Given the description of an element on the screen output the (x, y) to click on. 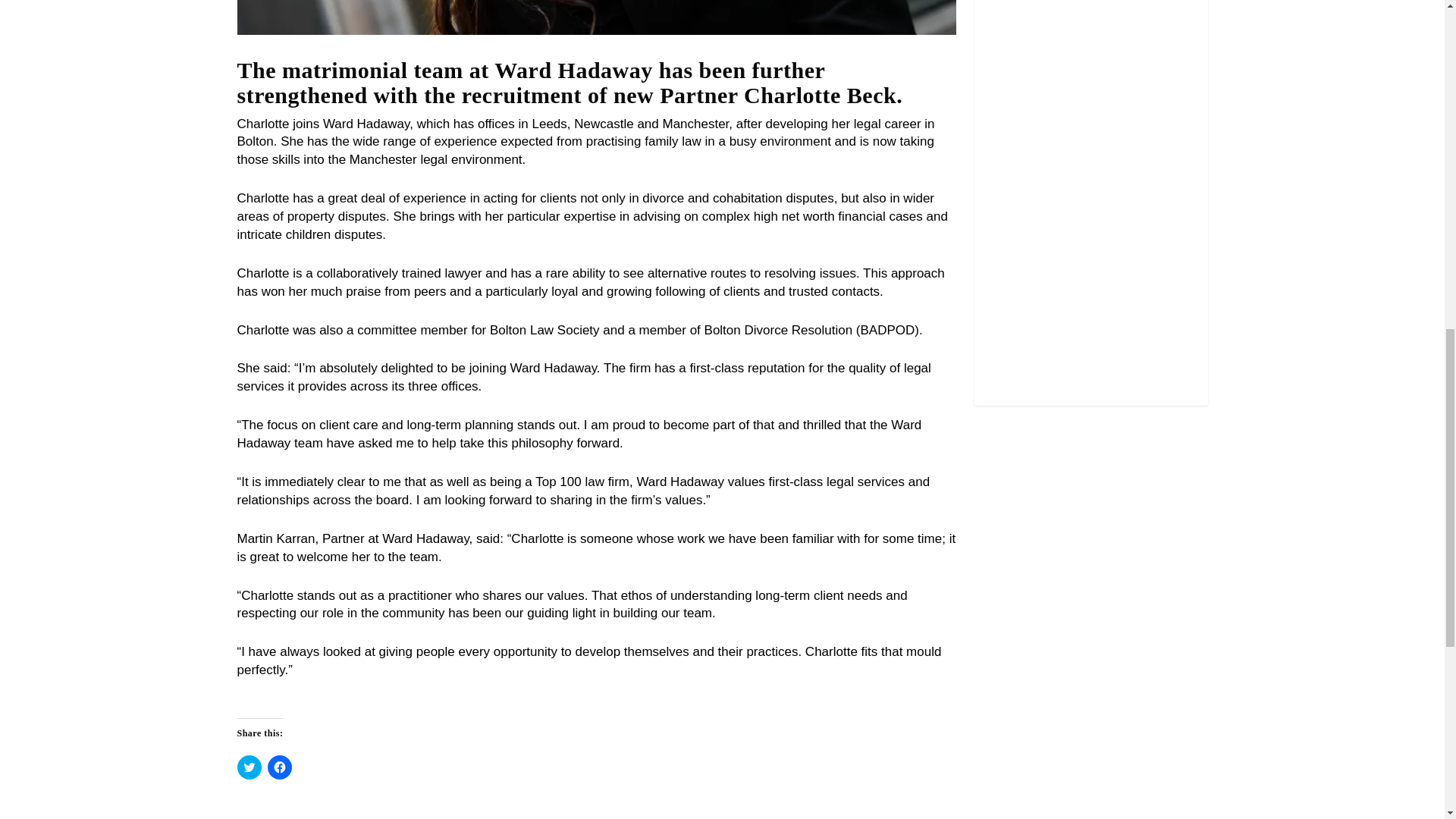
Click to share on Facebook (278, 767)
Click to share on Twitter (247, 767)
